Given the description of an element on the screen output the (x, y) to click on. 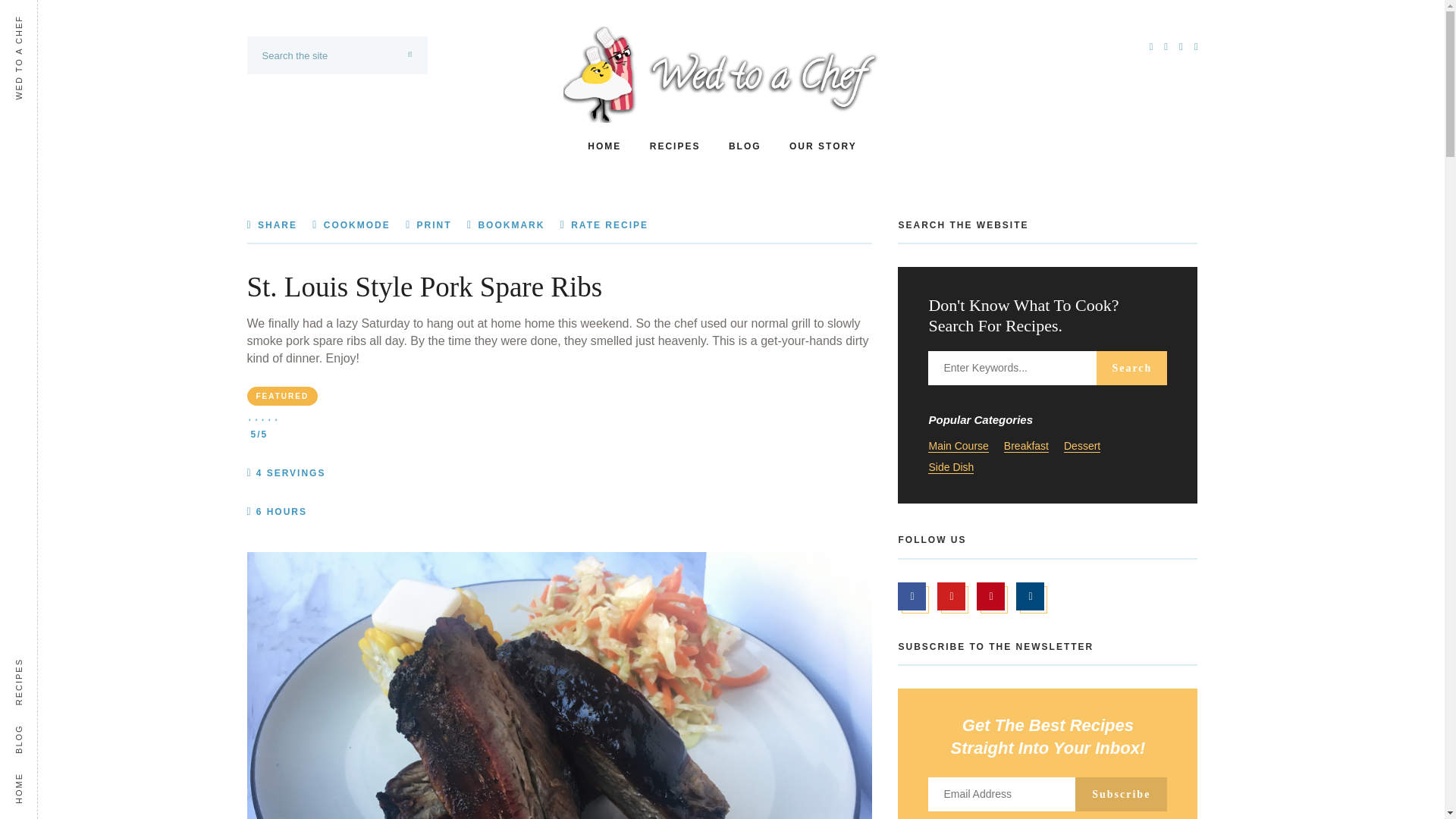
Search (1131, 367)
Subscribe (1121, 794)
OUR STORY (823, 146)
RECIPES (674, 146)
BLOG (745, 146)
BOOKMARK (505, 225)
FEATURED (282, 395)
HOME (604, 146)
